Given the description of an element on the screen output the (x, y) to click on. 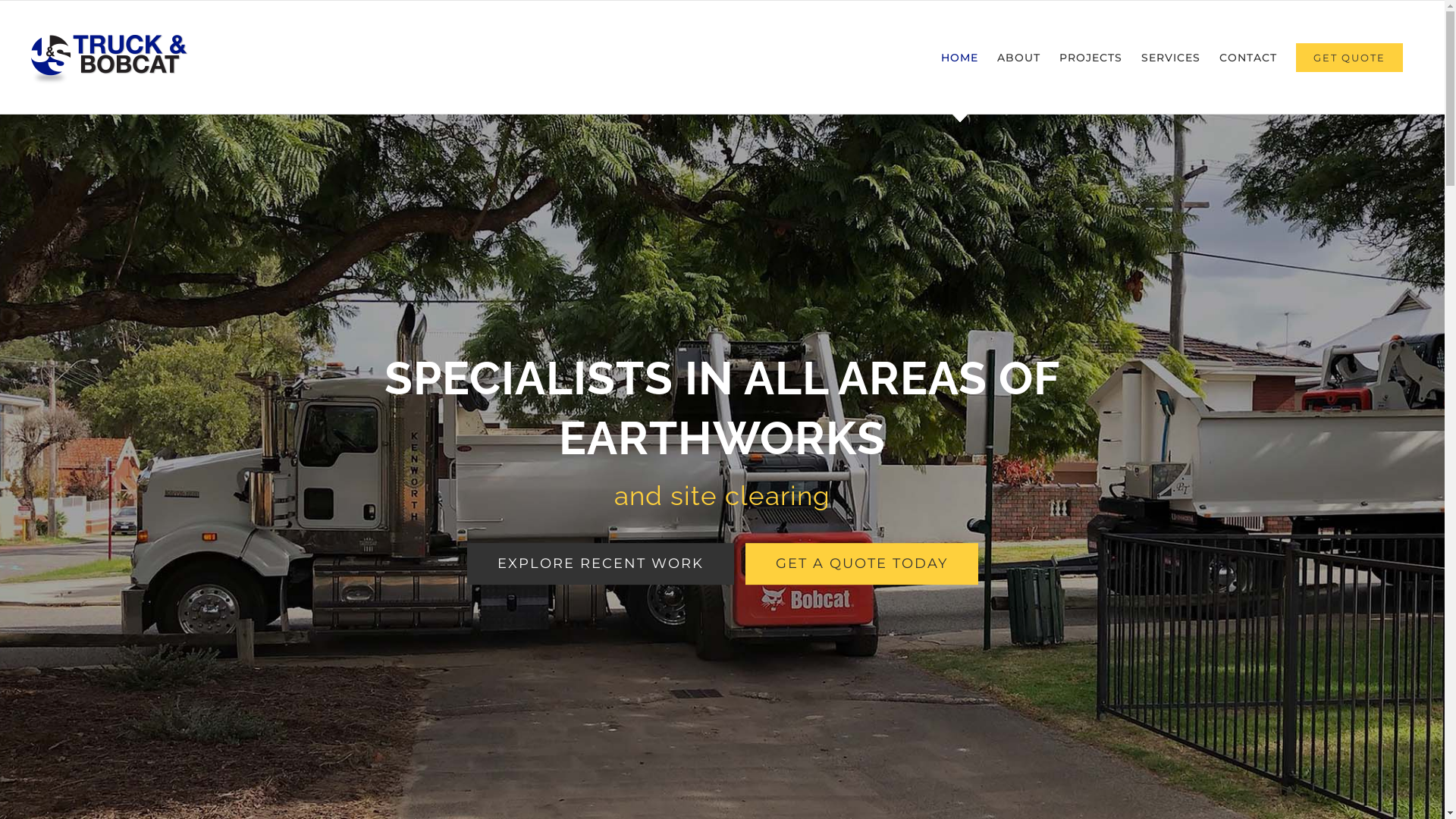
PROJECTS Element type: text (1090, 56)
ABOUT Element type: text (1018, 56)
CONTACT Element type: text (1248, 56)
GET QUOTE Element type: text (1348, 56)
EXPLORE RECENT WORK Element type: text (600, 563)
GET A QUOTE TODAY Element type: text (860, 563)
SERVICES Element type: text (1170, 56)
HOME Element type: text (959, 56)
